Given the description of an element on the screen output the (x, y) to click on. 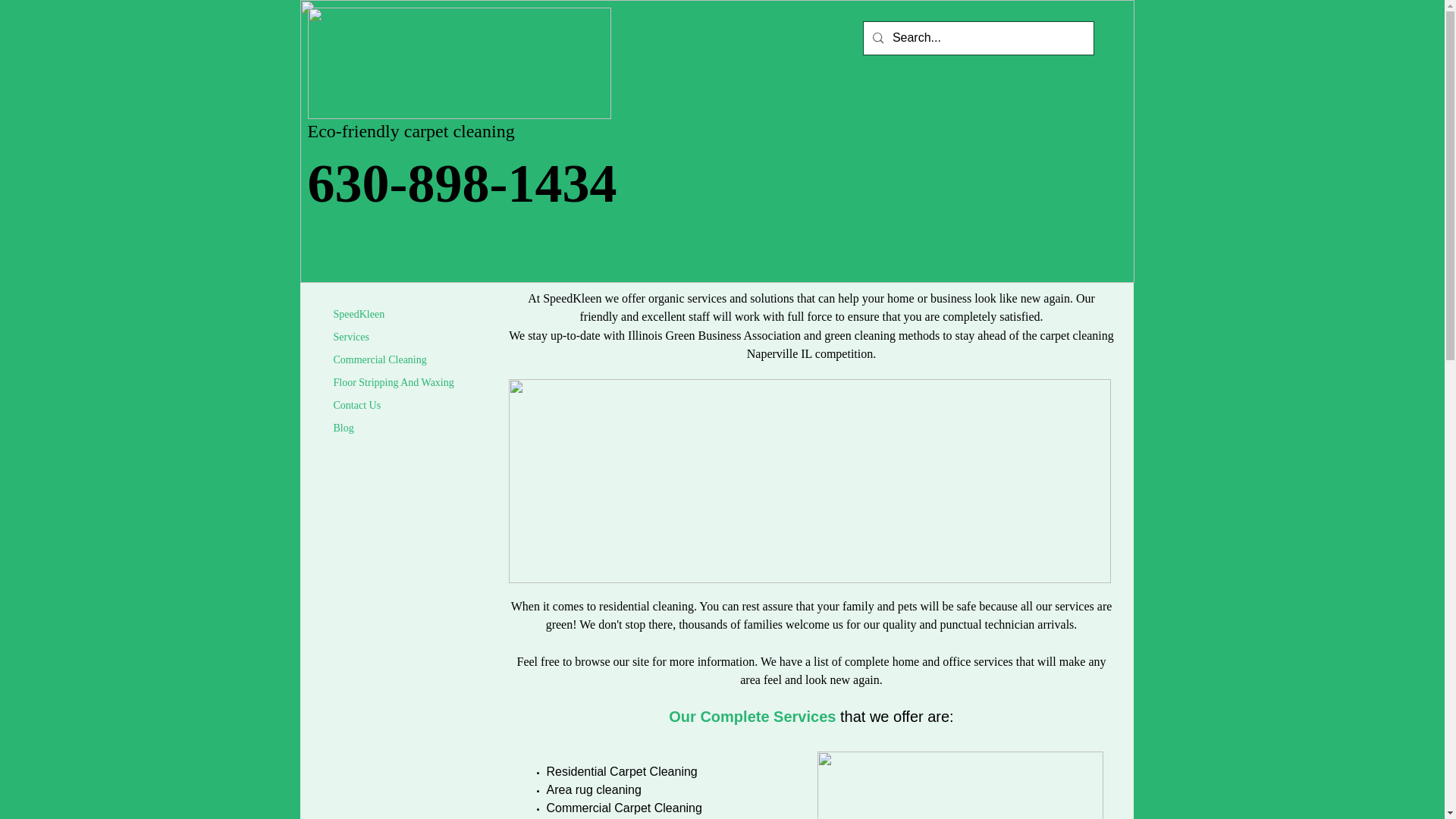
Services (351, 336)
Commercial Cleaning (379, 359)
Contact Us (357, 404)
Blog (343, 427)
Floor Stripping And Waxing (393, 382)
SpeedKleen (359, 313)
